Given the description of an element on the screen output the (x, y) to click on. 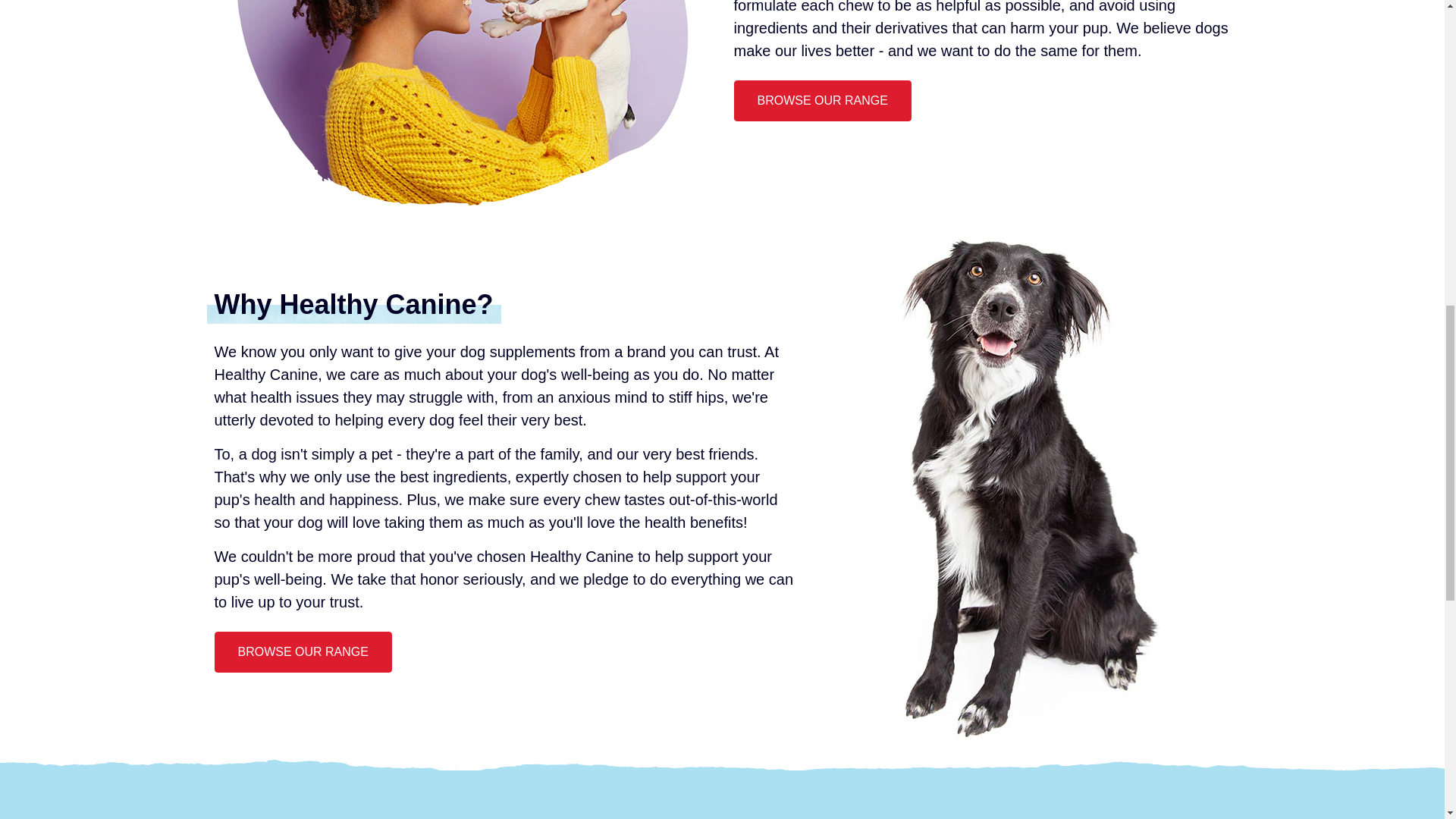
BROWSE OUR RANGE (822, 100)
BROWSE OUR RANGE (302, 651)
Satisfaction Guarantee (504, 816)
